Given the description of an element on the screen output the (x, y) to click on. 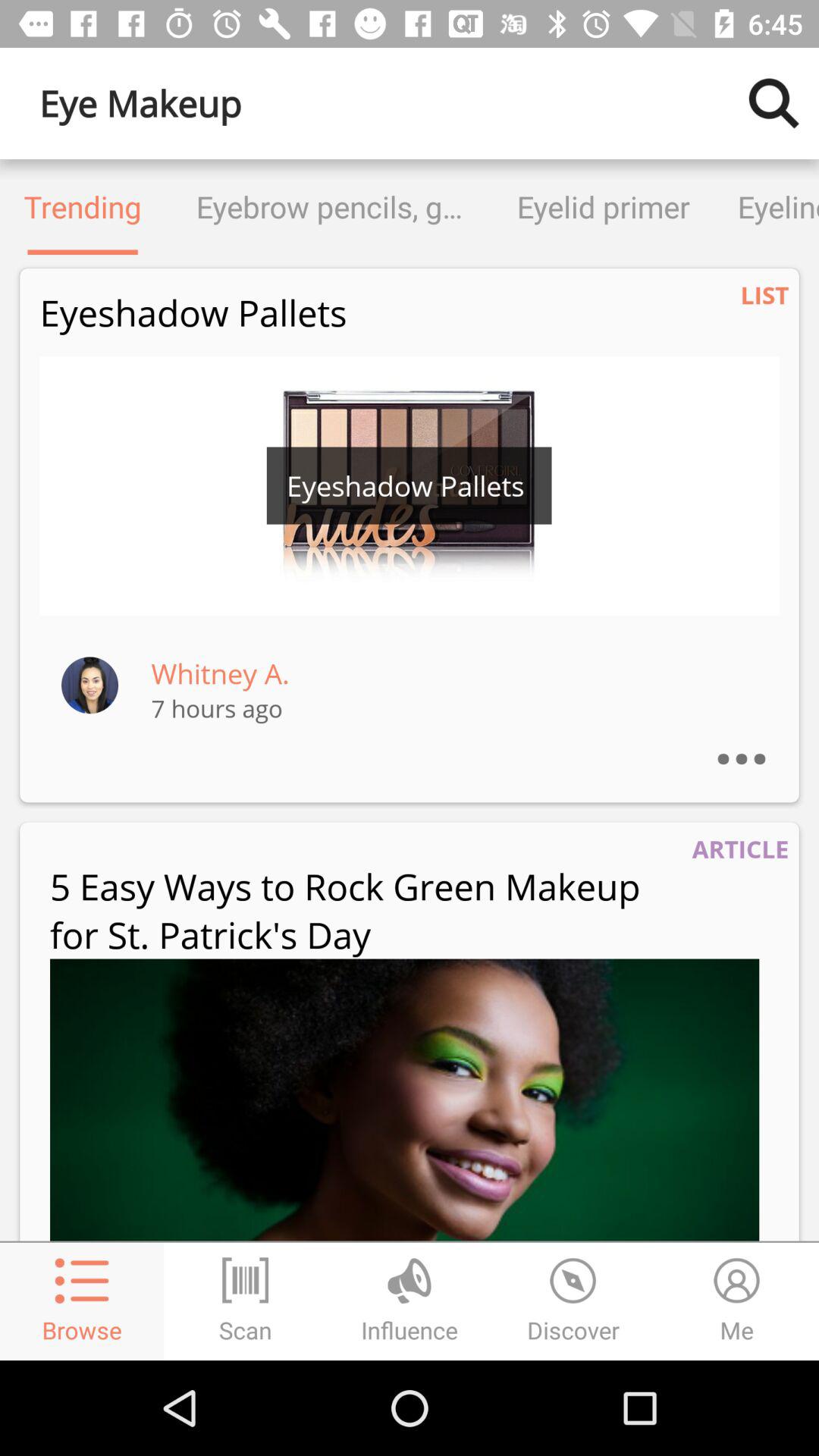
to search (773, 103)
